Given the description of an element on the screen output the (x, y) to click on. 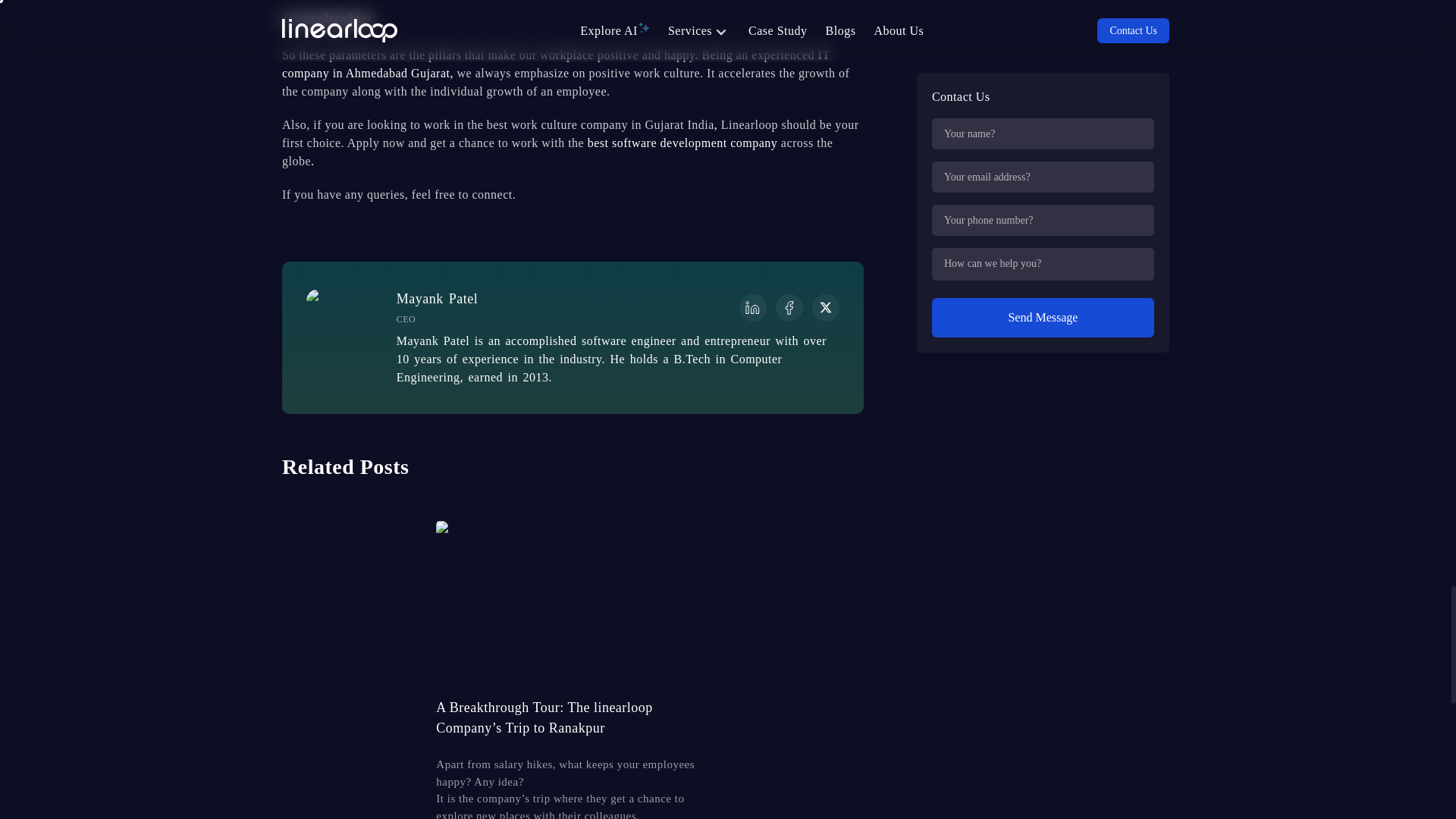
Mayank Patel (333, 300)
